Given the description of an element on the screen output the (x, y) to click on. 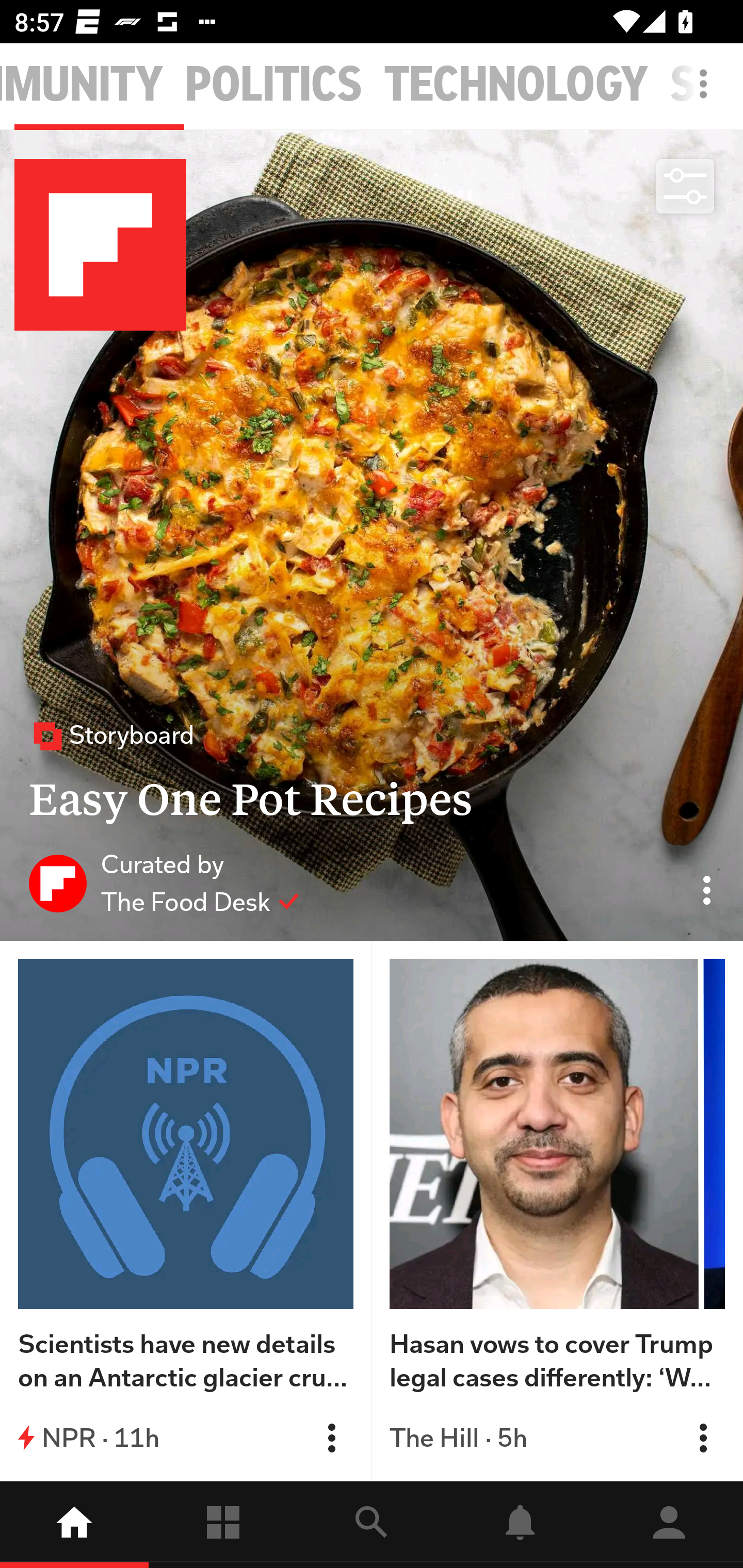
COMMUNITY (81, 84)
POLITICS (273, 84)
TECHNOLOGY (516, 84)
More options (706, 93)
Curated by The Food Desk (163, 882)
NPR · 11h Flip into Magazine (185, 1437)
The Hill · 5h Flip into Magazine (557, 1437)
Flip into Magazine (331, 1437)
Flip into Magazine (703, 1437)
home (74, 1524)
Following (222, 1524)
explore (371, 1524)
Notifications (519, 1524)
Profile (668, 1524)
